Given the description of an element on the screen output the (x, y) to click on. 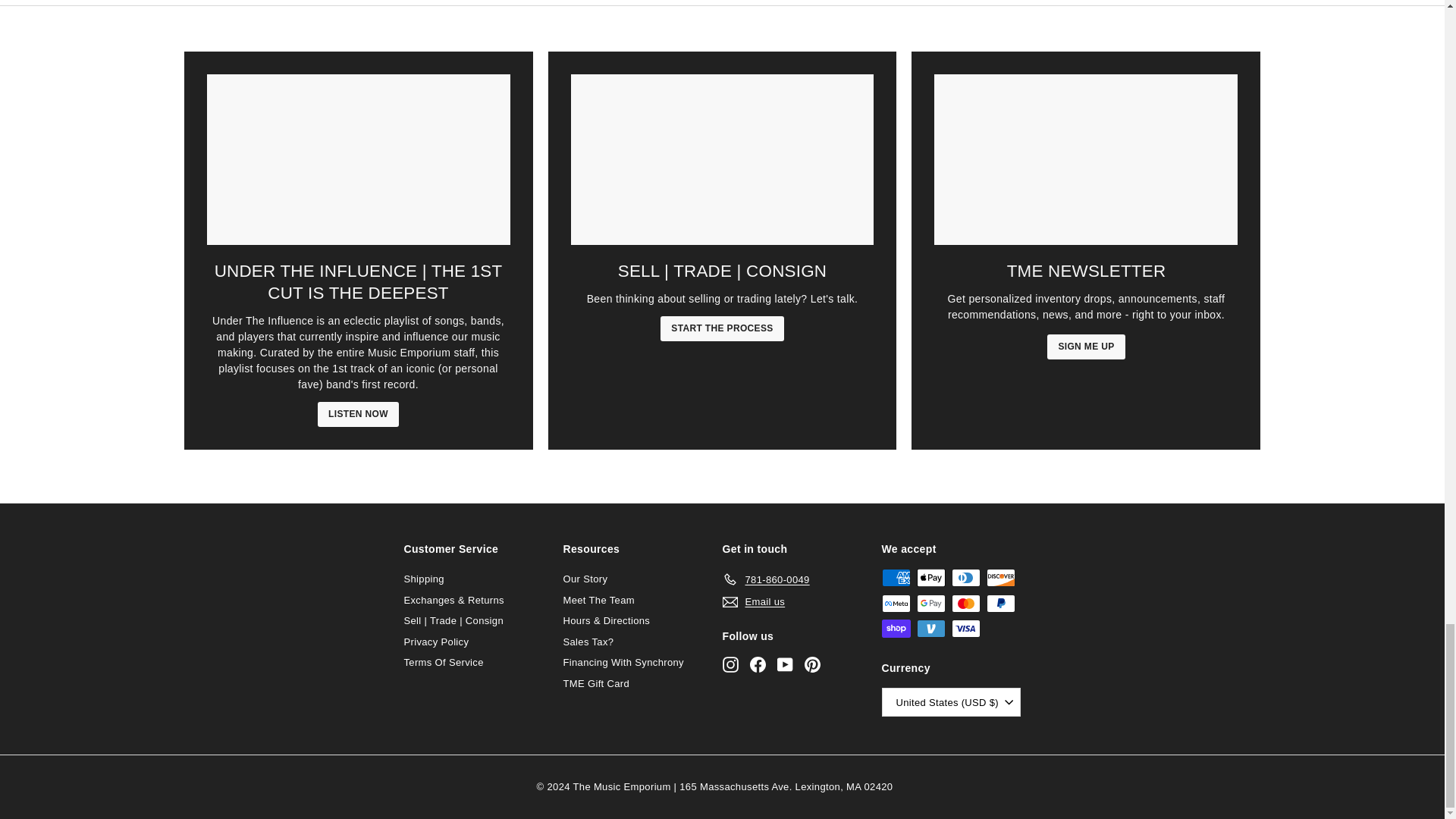
Discover (999, 577)
Mastercard (964, 603)
Diners Club (964, 577)
PayPal (999, 603)
The Music Emporium on YouTube (784, 663)
American Express (895, 577)
The Music Emporium on Pinterest (811, 663)
Apple Pay (929, 577)
The Music Emporium on Instagram (730, 663)
Google Pay (929, 603)
